Given the description of an element on the screen output the (x, y) to click on. 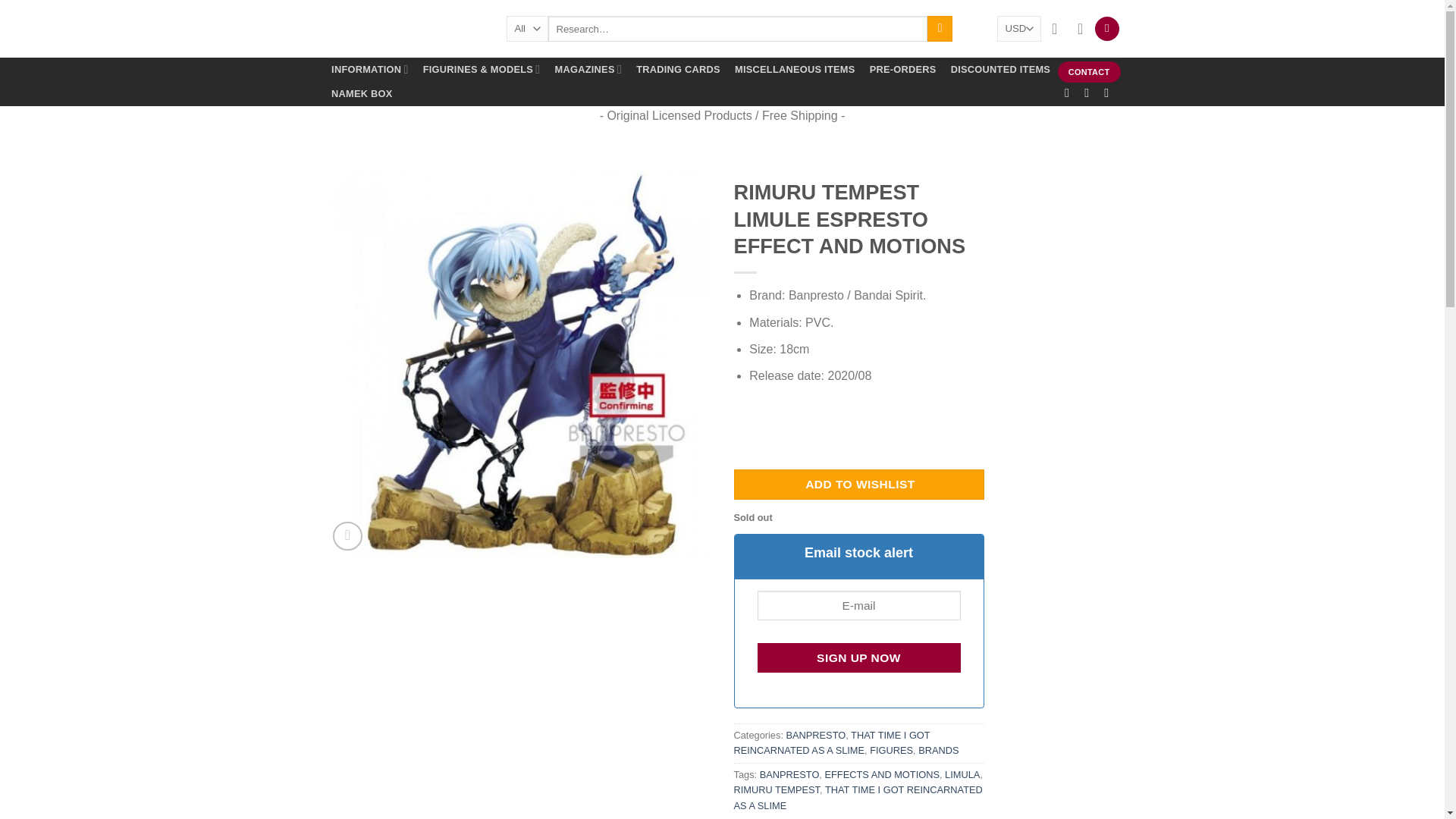
NamekToys (403, 28)
DISCOUNTED ITEMS (1000, 69)
Sign up now (858, 657)
TRADING CARDS (678, 69)
MISCELLANEOUS ITEMS (793, 69)
NAMEK BOX (362, 93)
PRE-ORDERS (902, 69)
Cart (1106, 28)
Follow us on Twitter (1109, 92)
INFORMATION (370, 69)
